Given the description of an element on the screen output the (x, y) to click on. 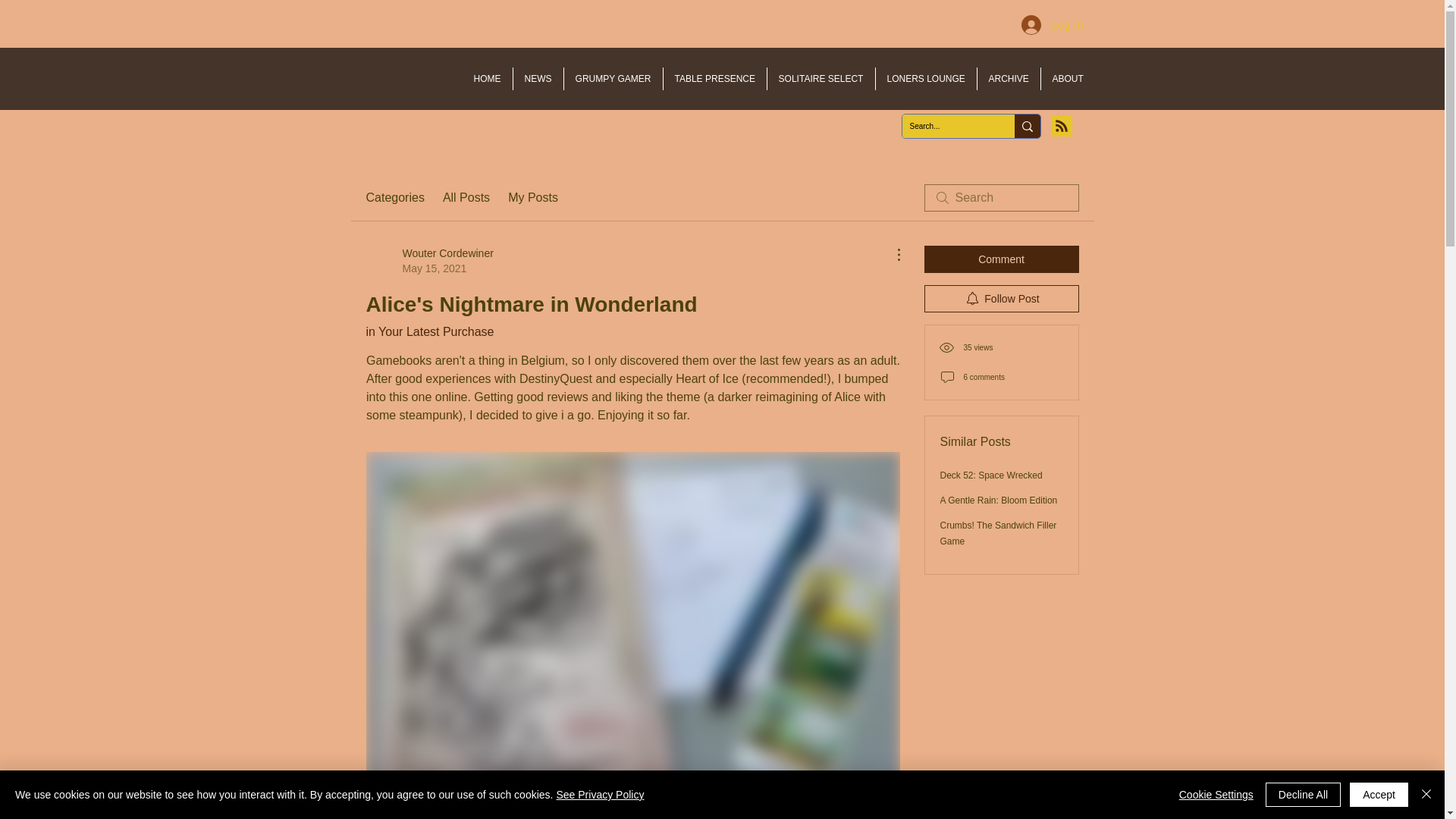
SOLITAIRE SELECT (821, 78)
Categories (394, 198)
TABLE PRESENCE (713, 78)
ARCHIVE (1007, 78)
in Your Latest Purchase (429, 331)
LONERS LOUNGE (925, 78)
ABOUT (1067, 78)
GRUMPY GAMER (613, 78)
NEWS (537, 78)
My Posts (532, 198)
All Posts (465, 198)
Log In (1052, 24)
HOME (429, 260)
